Given the description of an element on the screen output the (x, y) to click on. 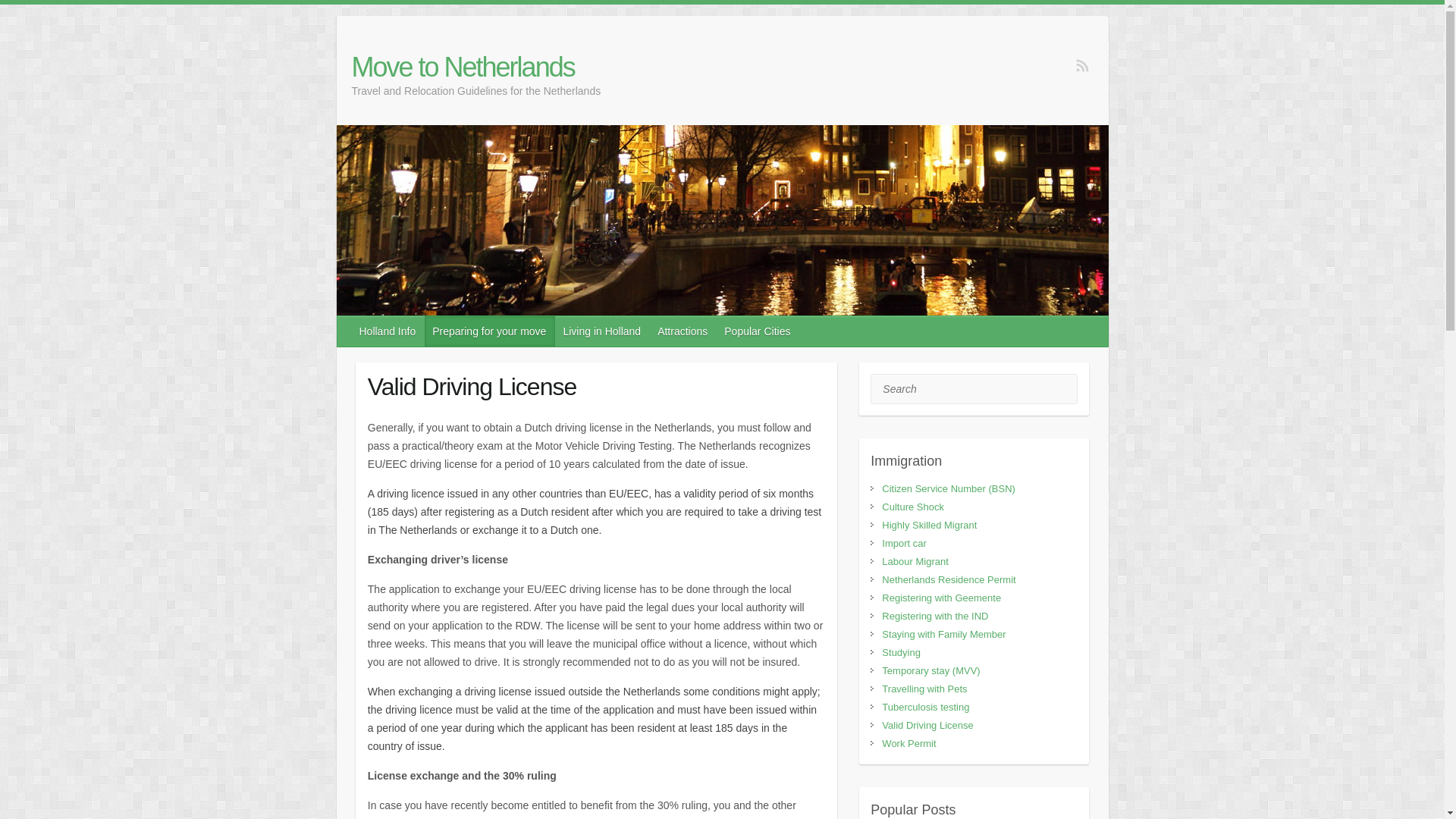
Holland Info (388, 331)
Highly Skilled Migrant (929, 524)
Preparing for your move (489, 331)
Living in Holland (601, 331)
Valid Driving License (927, 725)
Culture Shock (912, 506)
Move to Netherlands (476, 67)
Move to Netherlands (476, 67)
Netherlands Residence Permit (948, 579)
Registering with Geemente (941, 597)
